Given the description of an element on the screen output the (x, y) to click on. 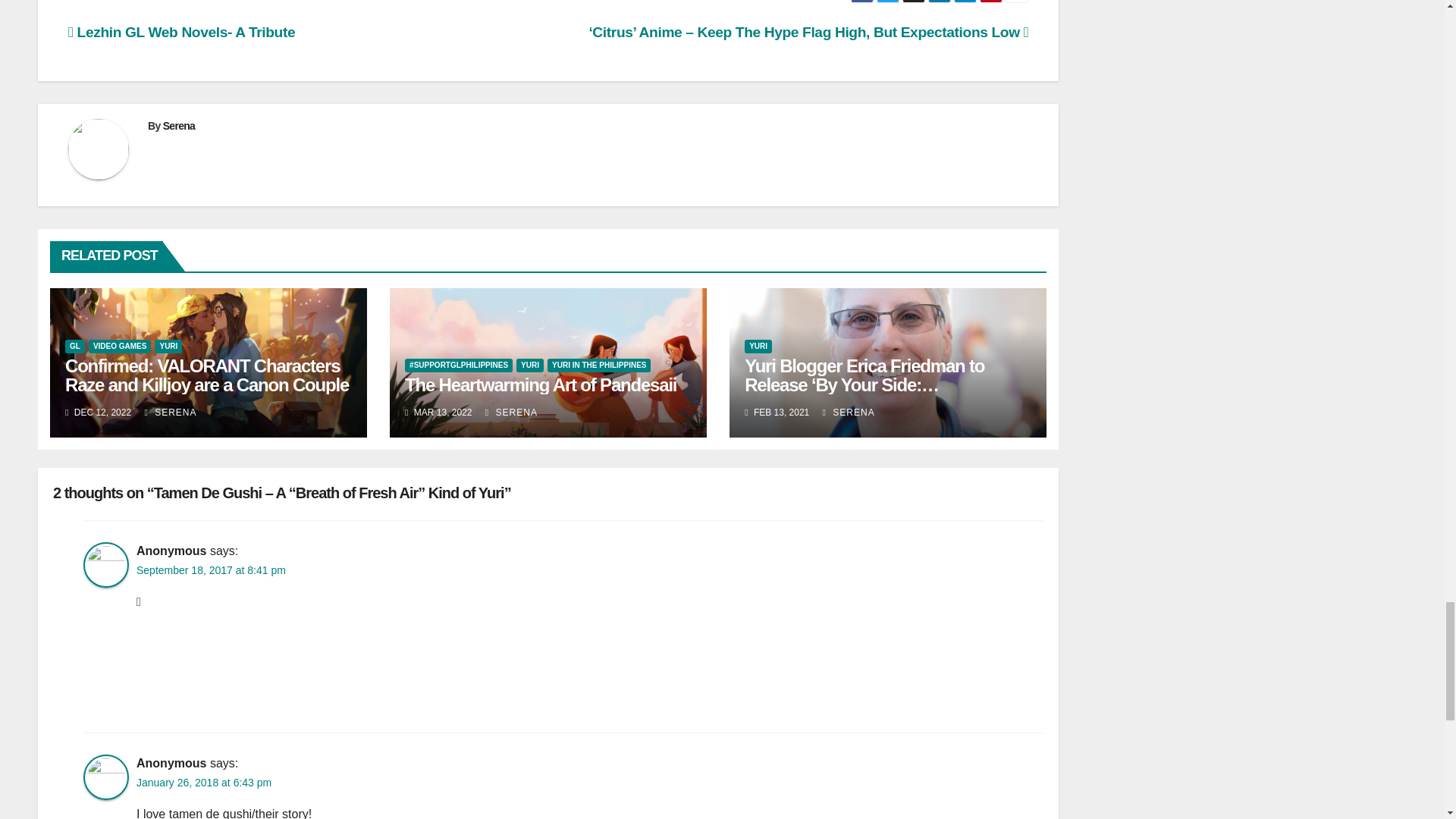
Lezhin GL Web Novels- A Tribute (181, 32)
Permalink to: The Heartwarming Art of Pandesaii (540, 384)
